Given the description of an element on the screen output the (x, y) to click on. 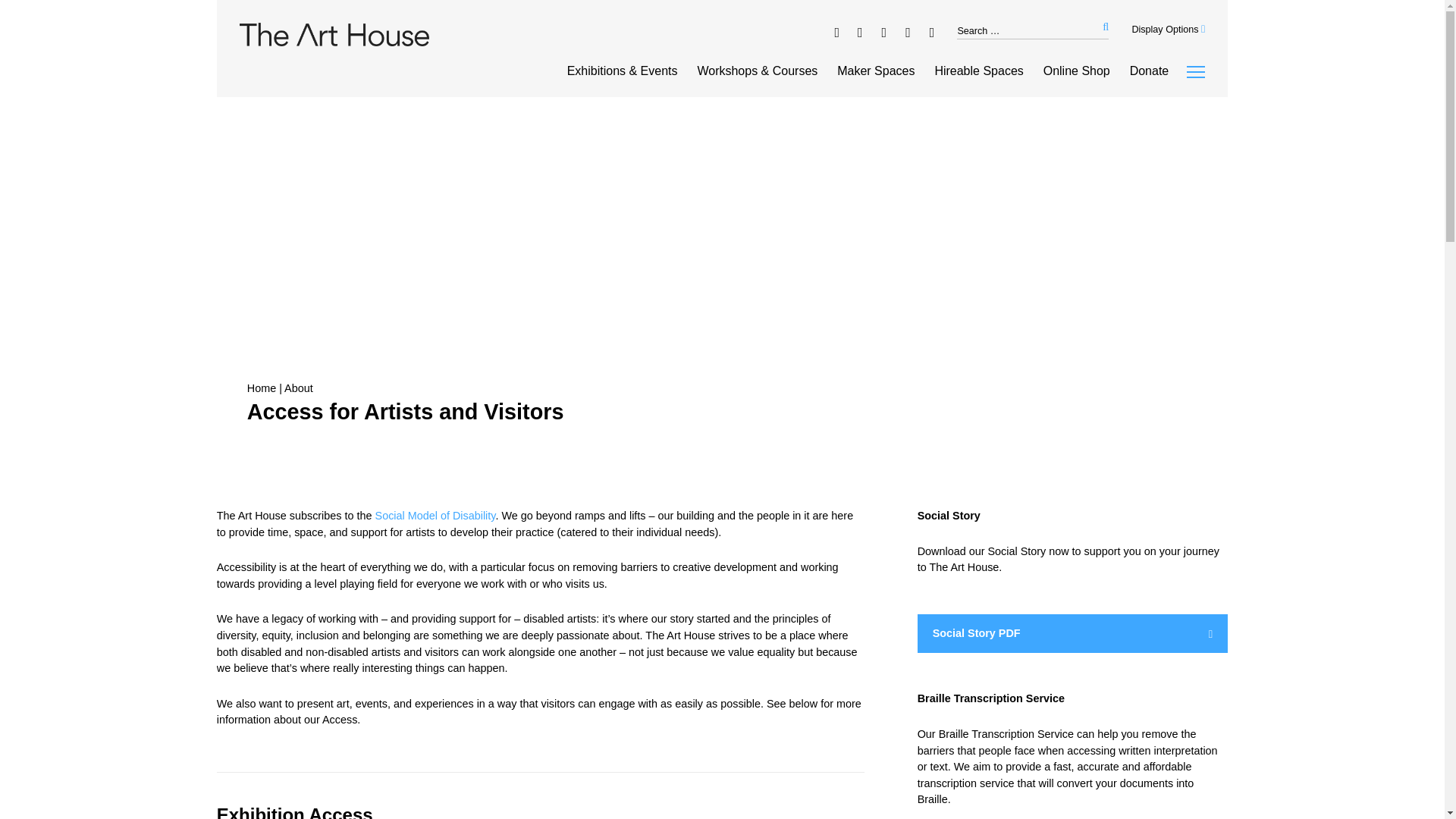
Maker Spaces (875, 71)
Download Social Story PDF (1072, 633)
Online Shop (1076, 71)
Hireable Spaces (978, 71)
Donate (1149, 71)
